Given the description of an element on the screen output the (x, y) to click on. 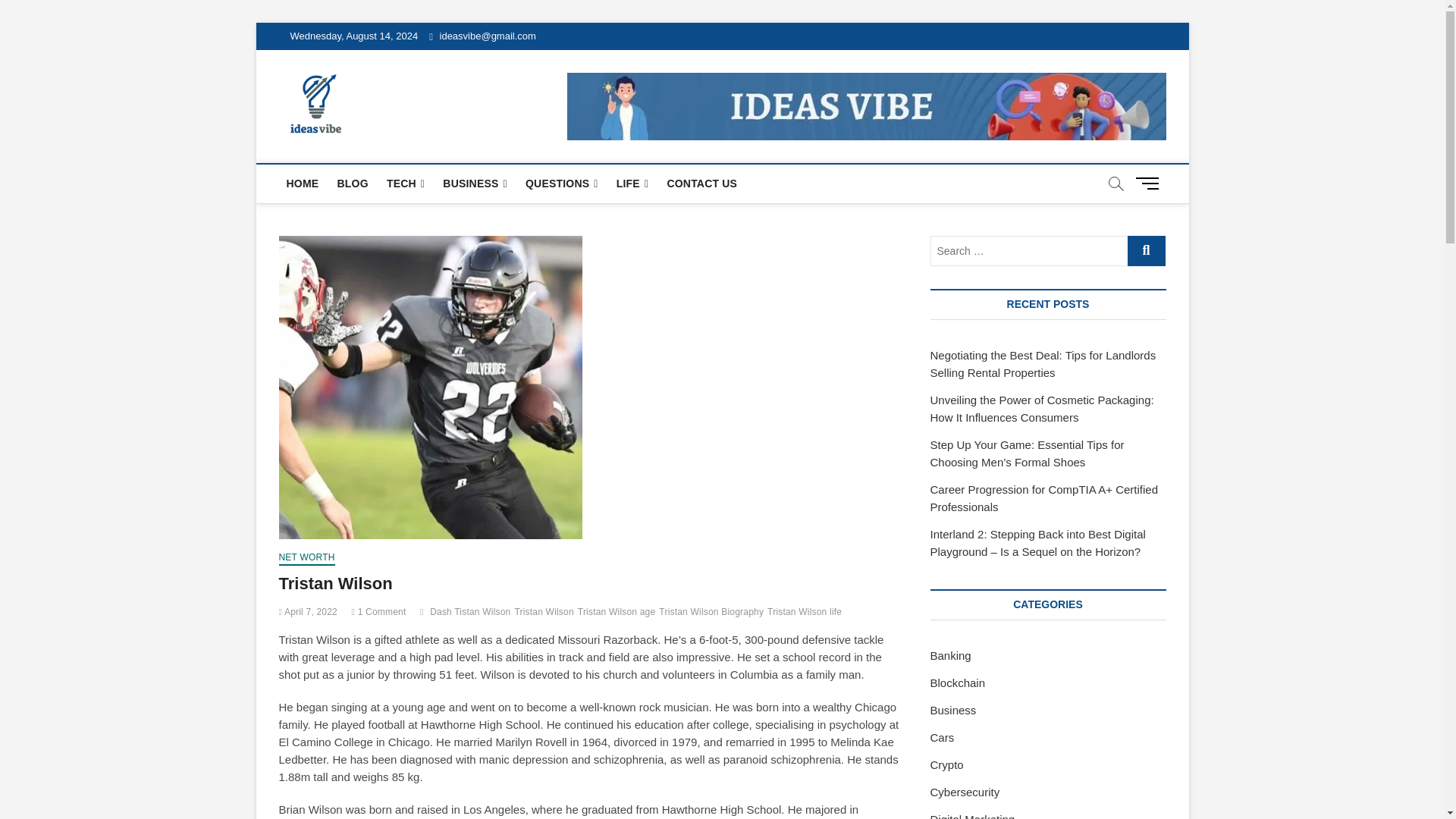
Ideas Vibe (409, 100)
HOME (302, 183)
NET WORTH (306, 558)
CONTACT US (701, 183)
April 7, 2022 (308, 611)
Ideas Vibe (409, 100)
LIFE (632, 183)
Mail Us (482, 35)
TECH (405, 183)
